Given the description of an element on the screen output the (x, y) to click on. 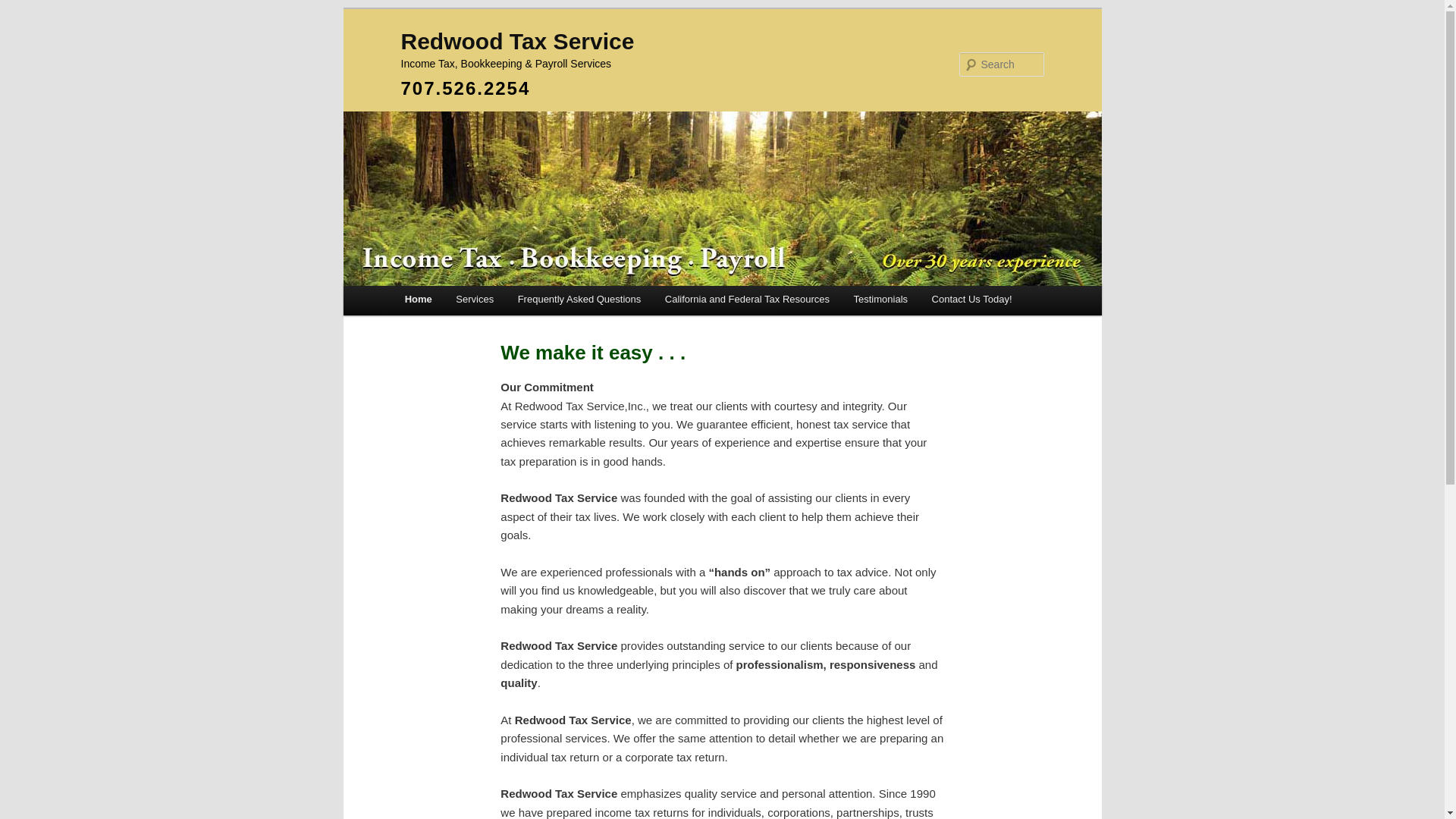
Resources (746, 298)
Services (474, 298)
Services (474, 298)
Home (418, 298)
Frequently Asked Questions (578, 298)
Testimonials (880, 298)
Redwood Tax Service (516, 41)
Search (24, 8)
Redwood Tax Service (516, 41)
Contact Redwood Tax Service (971, 298)
California and Federal Tax Resources (746, 298)
Contact Us Today! (971, 298)
Home (418, 298)
